Given the description of an element on the screen output the (x, y) to click on. 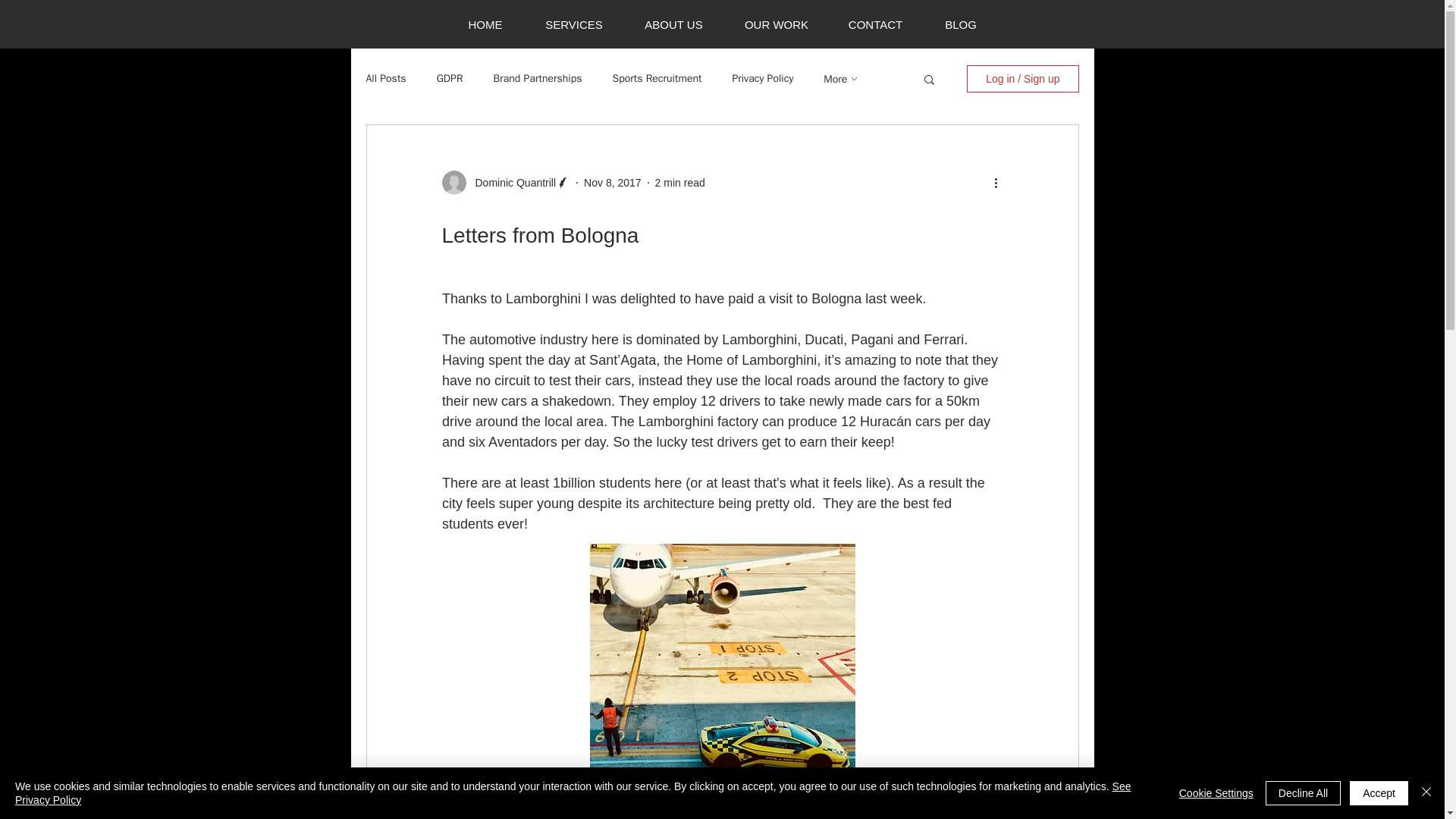
Privacy Policy (762, 78)
See Privacy Policy (572, 792)
OUR WORK (776, 24)
ABOUT US (674, 24)
Dominic Quantrill (510, 182)
Decline All (1302, 793)
All Posts (385, 78)
GDPR (449, 78)
SERVICES (573, 24)
HOME (485, 24)
2 min read (679, 182)
Sports Recruitment (656, 78)
Brand Partnerships (537, 78)
CONTACT (874, 24)
BLOG (959, 24)
